Given the description of an element on the screen output the (x, y) to click on. 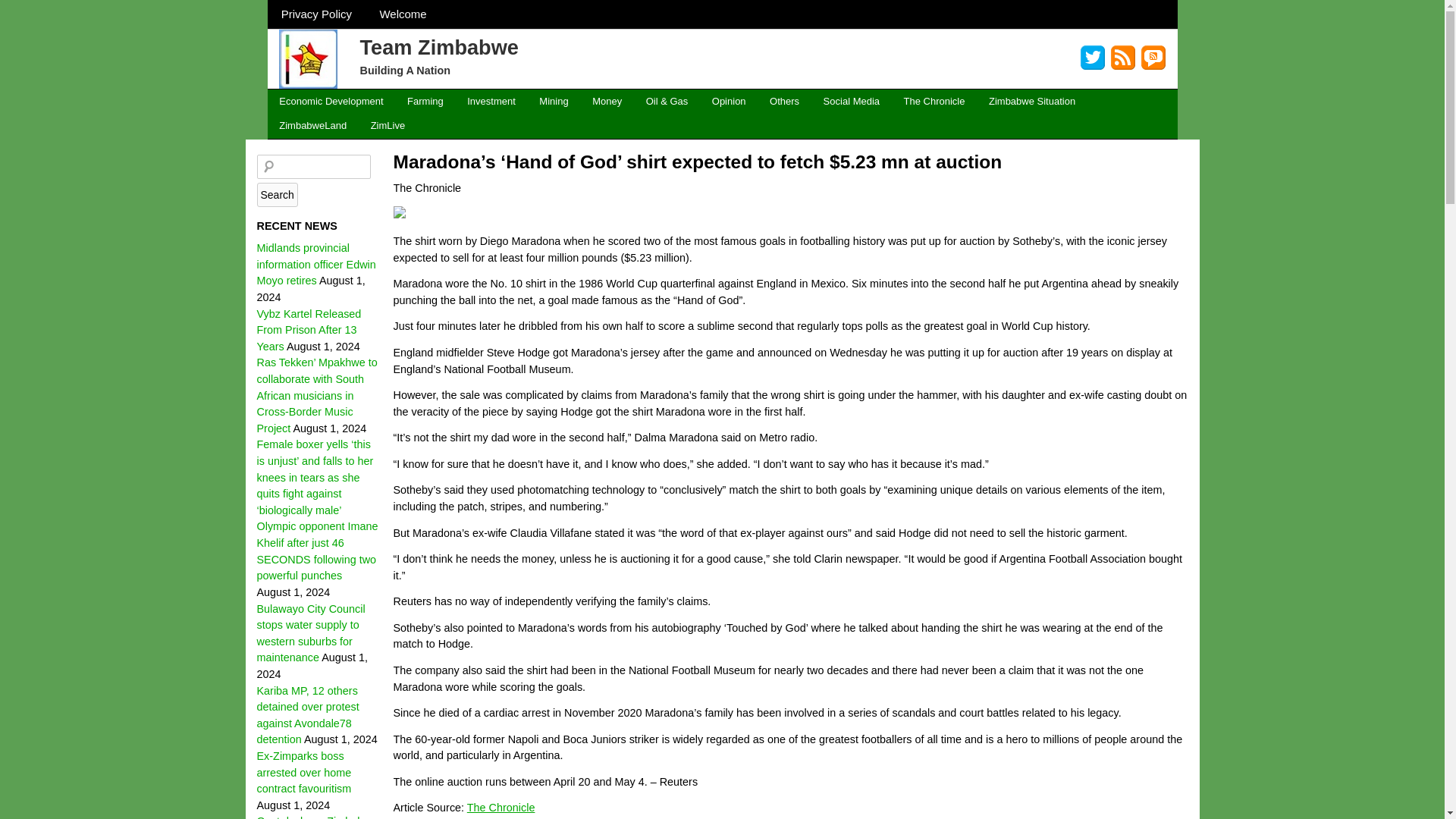
Money (606, 101)
Farming (424, 101)
Investment (490, 101)
Welcome (403, 14)
ZimbabweLand (312, 125)
Search (276, 193)
Mining (553, 101)
Search (276, 193)
Team Zimbabwe (438, 46)
Team Zimbabwe (438, 46)
Opinion (728, 101)
Ex-Zimparks boss arrested over home contract favouritism (303, 772)
Social Media (850, 101)
The Chronicle (501, 807)
The Chronicle (933, 101)
